Given the description of an element on the screen output the (x, y) to click on. 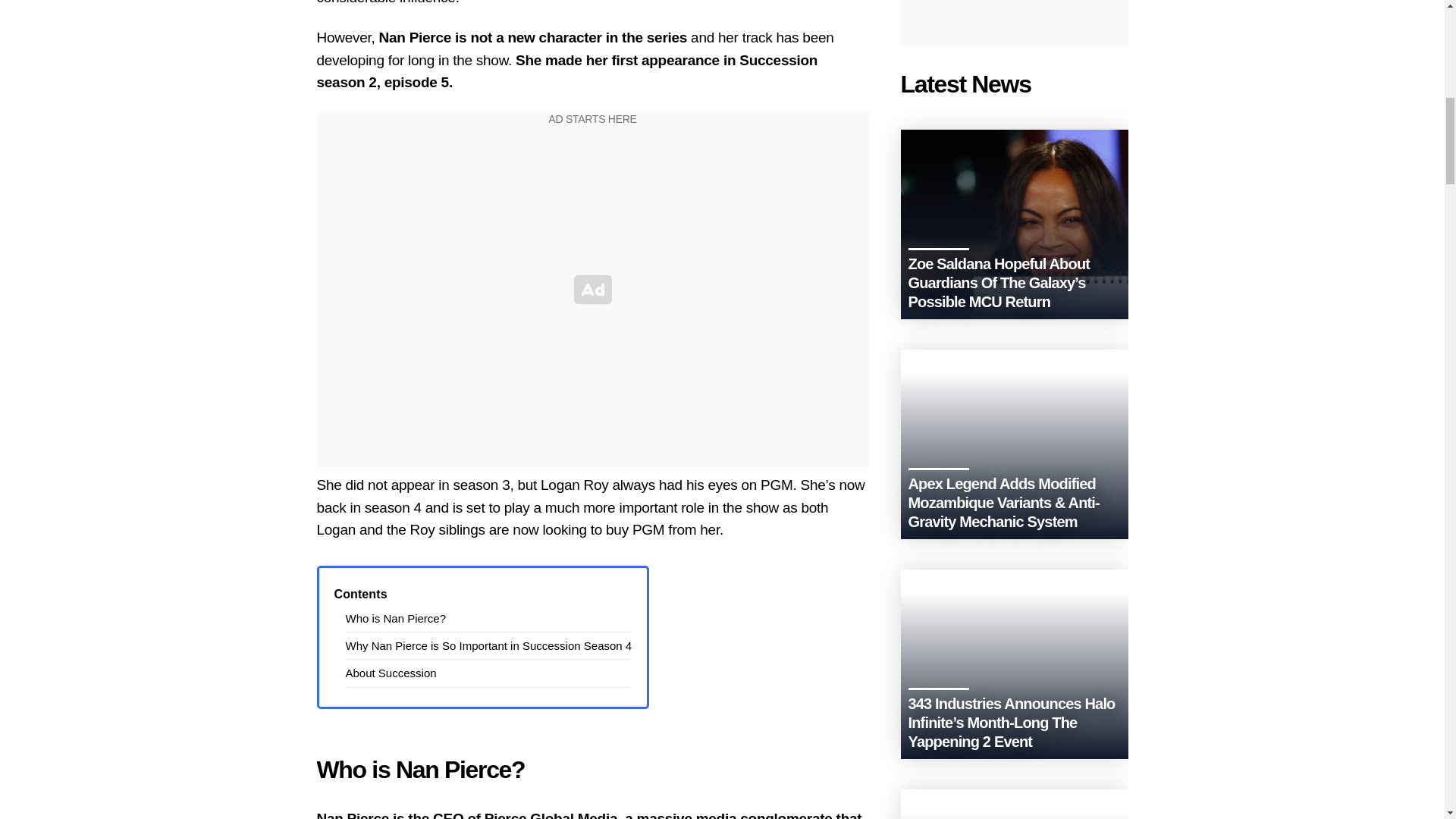
Why Nan Pierce is So Important in Succession Season 4 (488, 645)
Who is Nan Pierce? (396, 617)
